Given the description of an element on the screen output the (x, y) to click on. 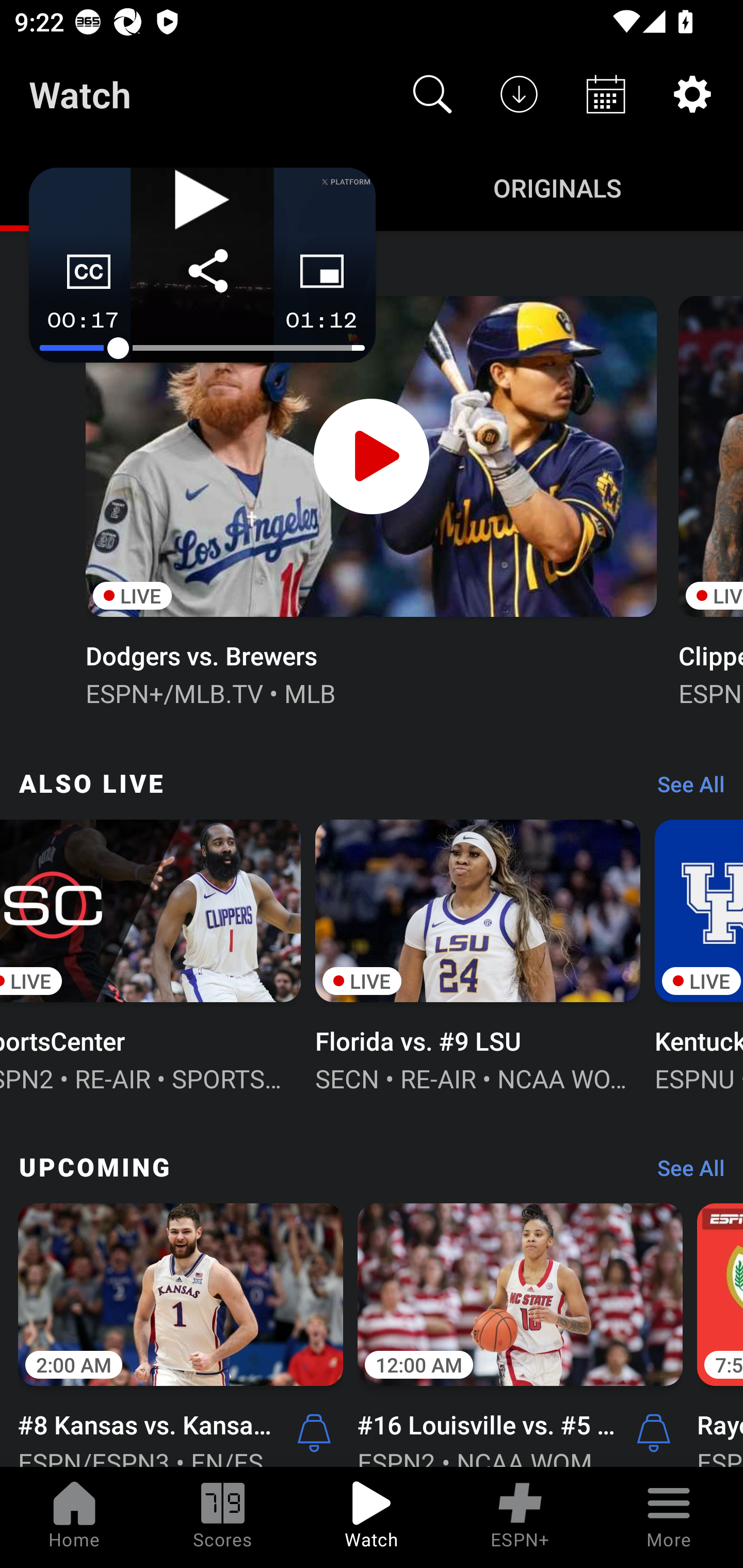
Search (432, 93)
Downloads (518, 93)
Schedule (605, 93)
Settings (692, 93)
Originals ORIGINALS (557, 187)
 LIVE Dodgers vs. Brewers ESPN+/MLB.TV • MLB (370, 499)
See All (683, 788)
LIVE SportsCenter ESPN2 • RE-AIR • SPORTSCENTER (150, 954)
See All (683, 1172)
Alerts (314, 1432)
Alerts (653, 1432)
Home (74, 1517)
Scores (222, 1517)
ESPN+ (519, 1517)
More (668, 1517)
